Given the description of an element on the screen output the (x, y) to click on. 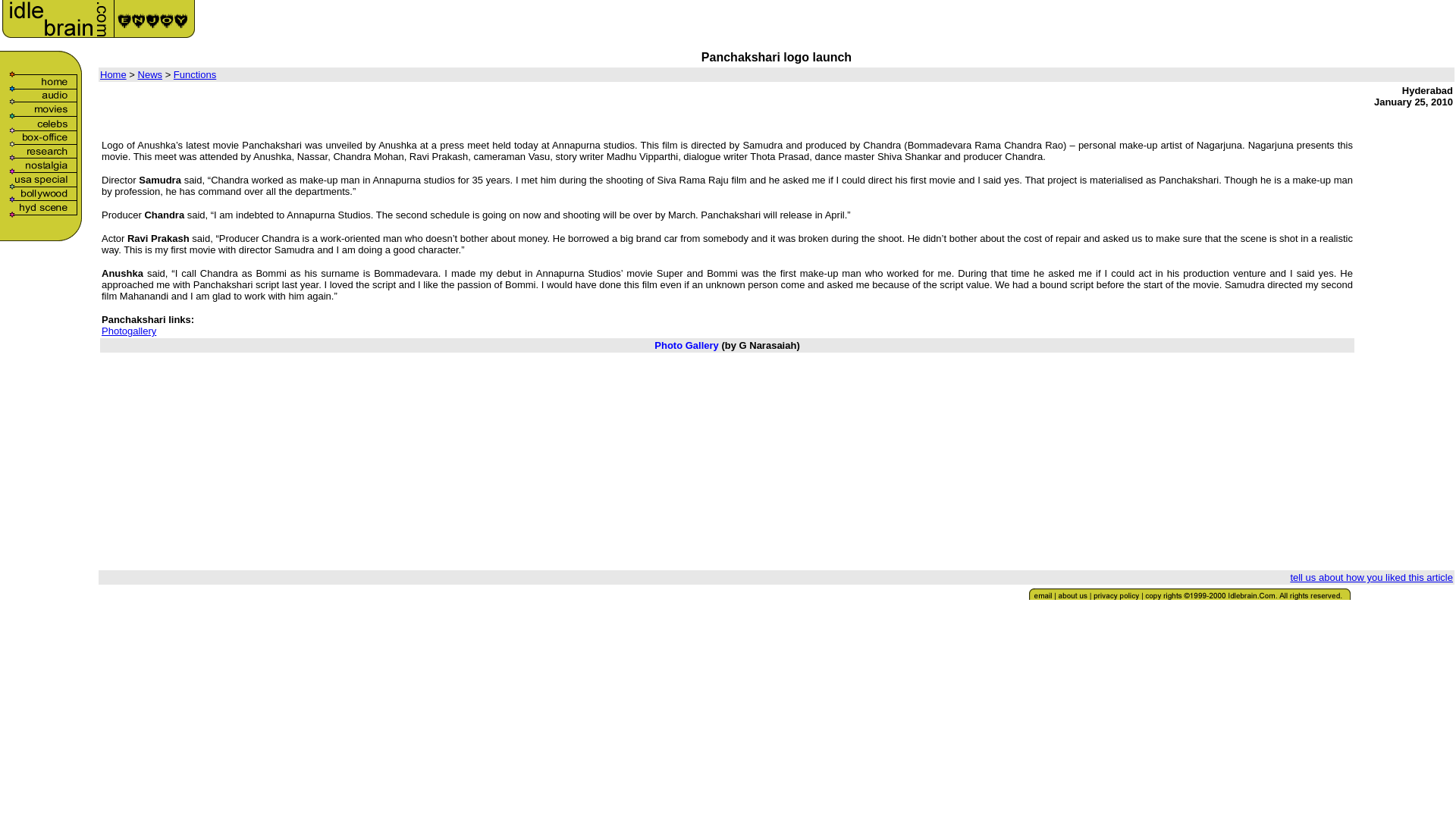
Photogallery (128, 330)
Advertisement (1407, 339)
Functions (194, 74)
News (150, 74)
Home (113, 74)
